Given the description of an element on the screen output the (x, y) to click on. 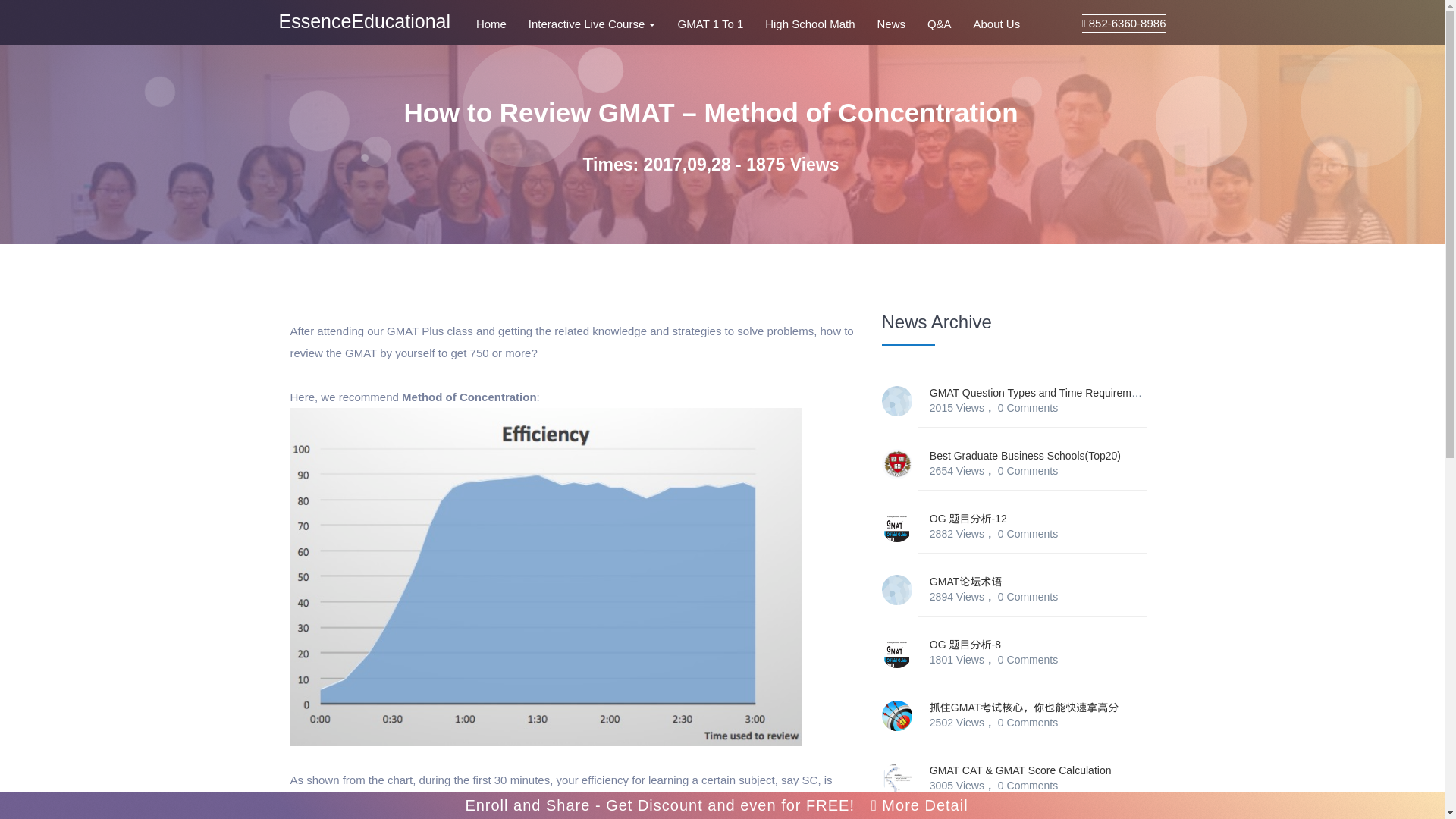
Interactive Live Course (603, 23)
High School Math (819, 23)
EssenceEducational (365, 20)
852-6360-8986 (1127, 22)
More Detail (919, 804)
About Us (996, 23)
Home (500, 23)
Essence Educational (365, 20)
GMAT 1 To 1 (720, 23)
News (900, 23)
